Given the description of an element on the screen output the (x, y) to click on. 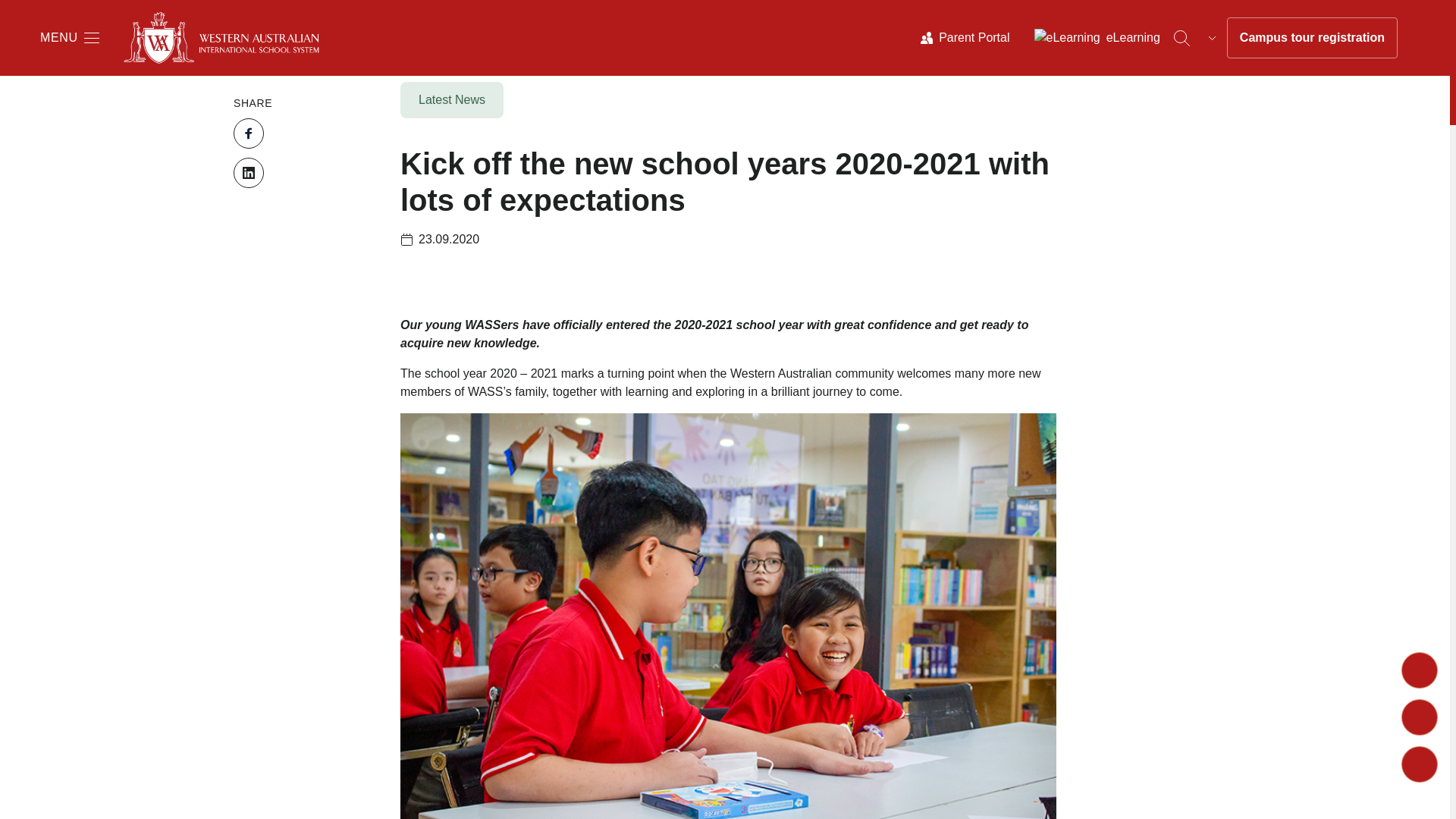
MENU (69, 37)
eLearning (1096, 37)
Parent Portal (964, 37)
Campus tour registration (1312, 37)
Latest News (454, 102)
